Given the description of an element on the screen output the (x, y) to click on. 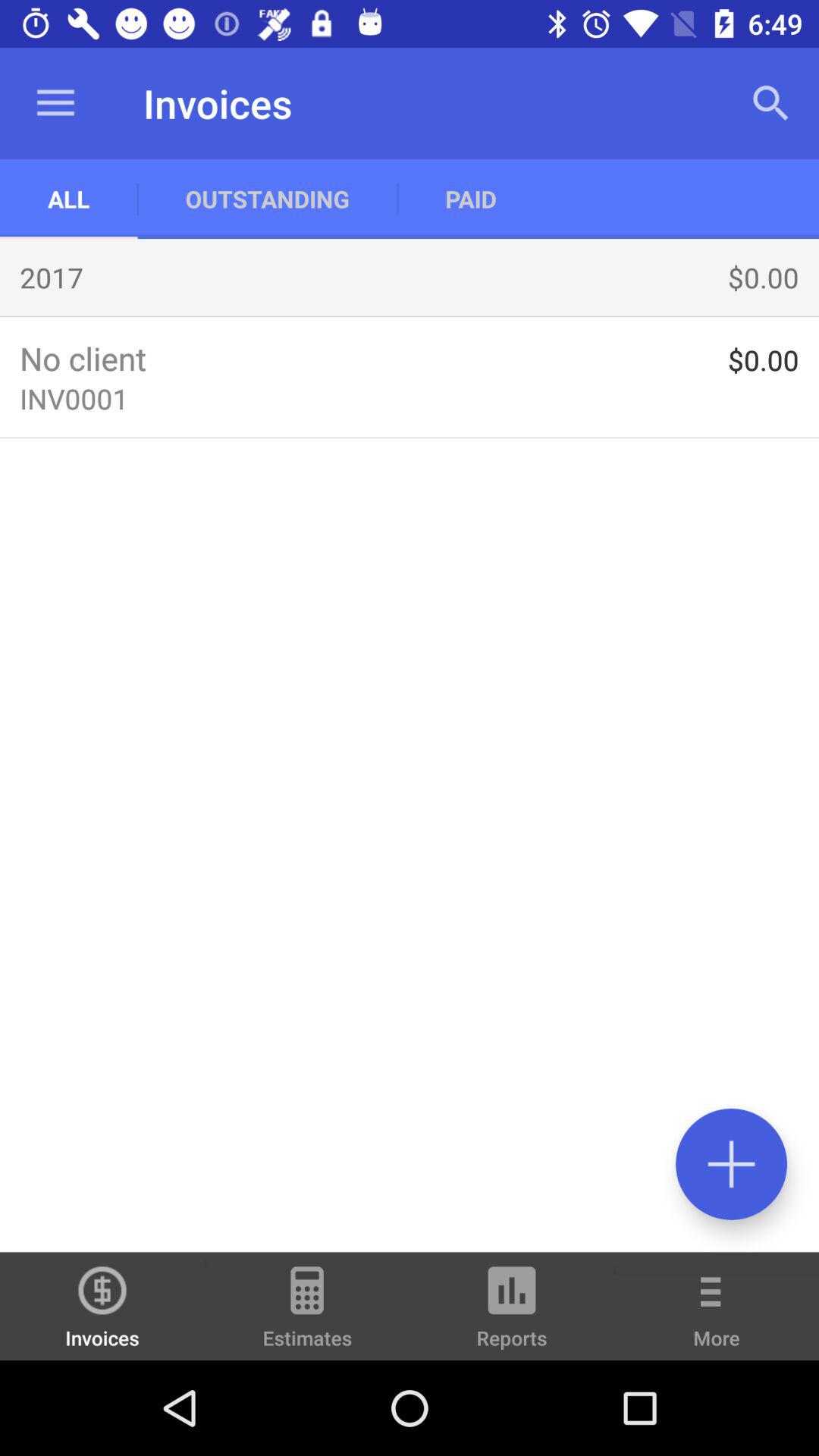
choose outstanding item (267, 198)
